Given the description of an element on the screen output the (x, y) to click on. 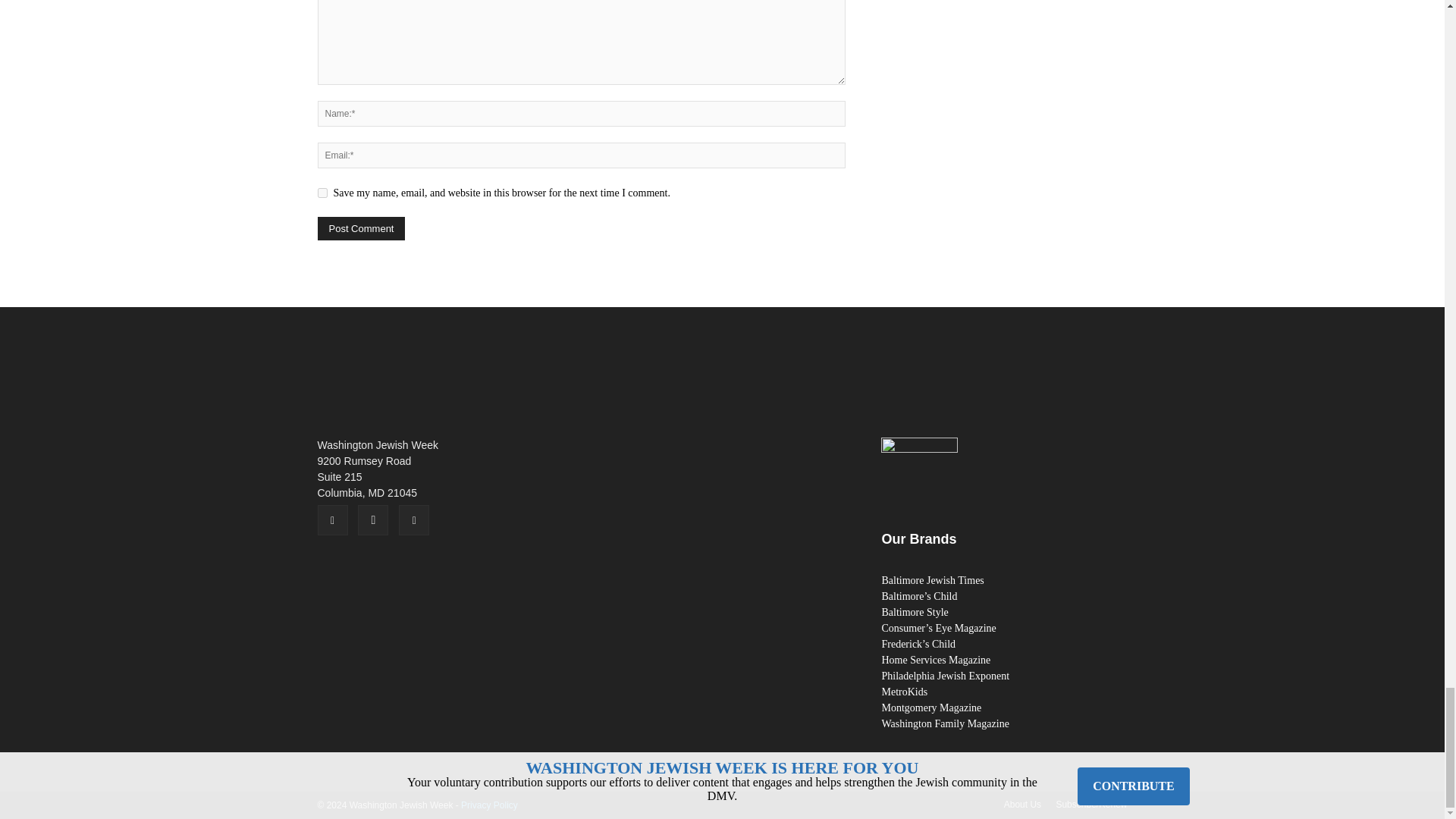
yes (321, 193)
Post Comment (360, 228)
